Given the description of an element on the screen output the (x, y) to click on. 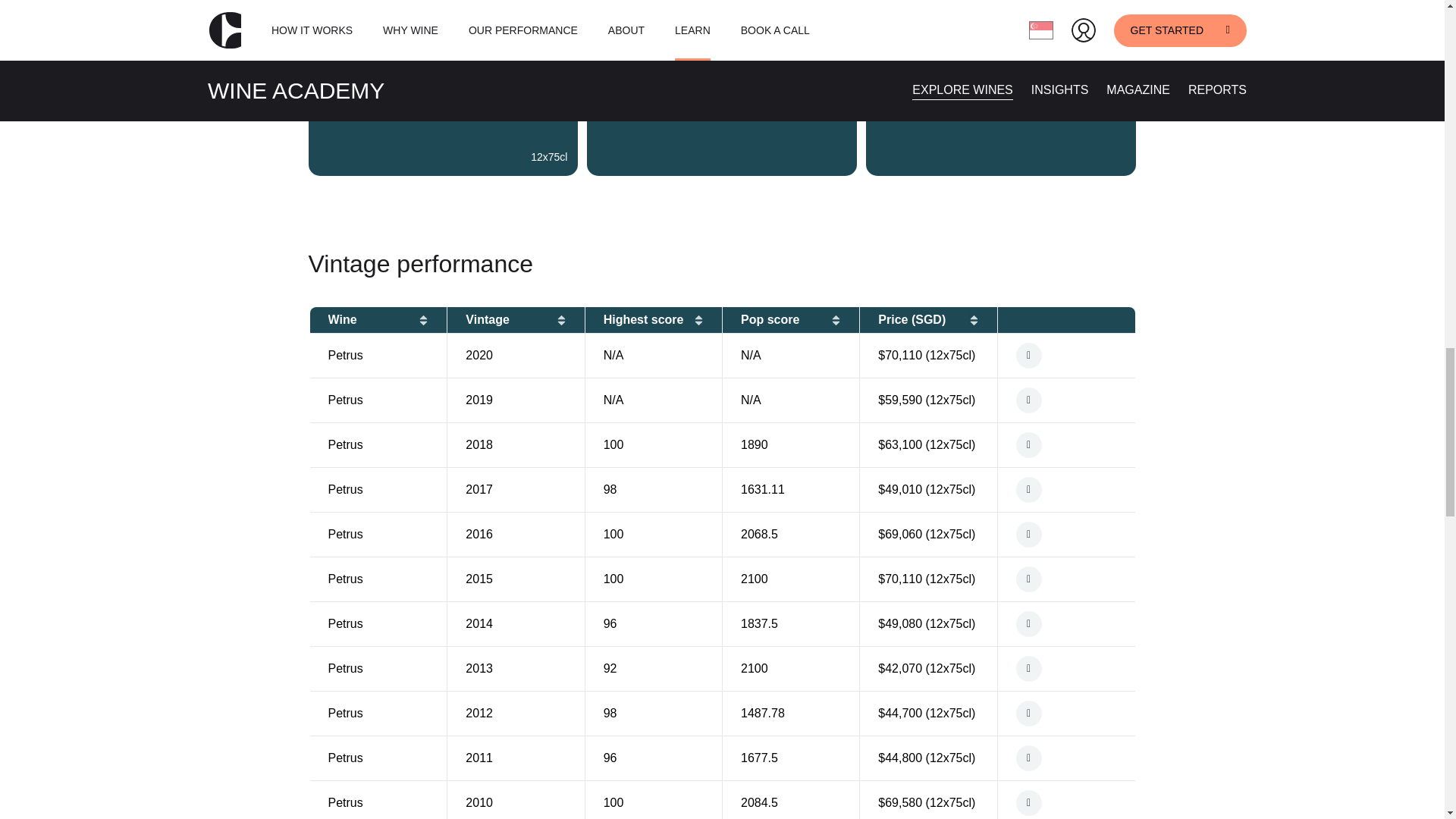
Petrus, 2015 (1066, 579)
Petrus, 2014 (1066, 623)
Petrus, 2012 (1066, 713)
Petrus, 2017 (1066, 489)
Petrus, 2016 (1066, 534)
Petrus, 2020 (1066, 355)
Petrus, 2013 (1066, 668)
Petrus, 2019 (1066, 400)
Petrus, 2018 (1066, 444)
